Given the description of an element on the screen output the (x, y) to click on. 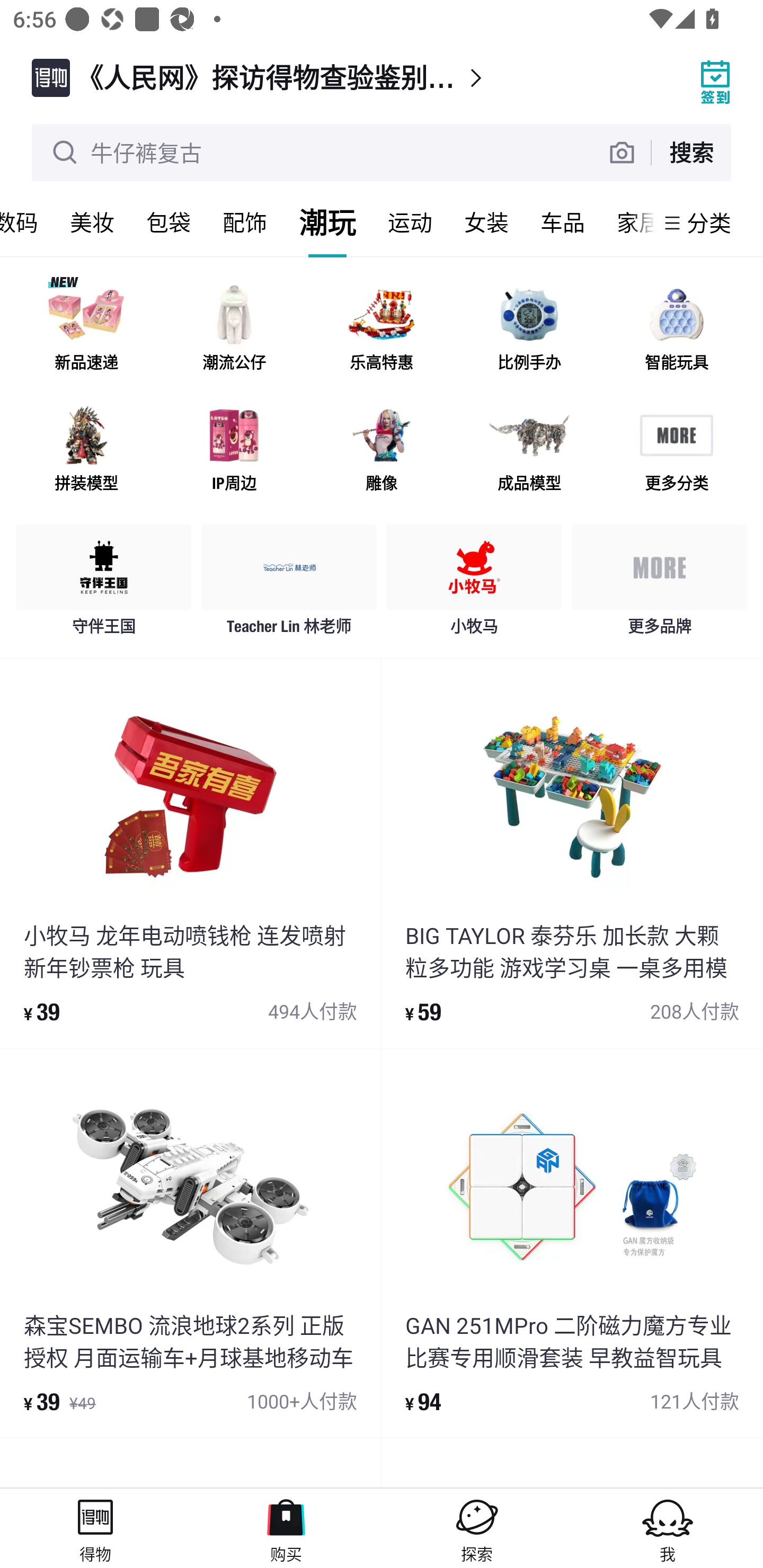
搜索 (690, 152)
数码 (27, 222)
美妆 (92, 222)
包袋 (168, 222)
配饰 (244, 222)
潮玩 (327, 222)
运动 (410, 222)
女装 (486, 222)
车品 (562, 222)
家居 (627, 222)
分类 (708, 222)
新品速递 (86, 329)
潮流公仔 (233, 329)
乐高特惠 (381, 329)
比例手办 (528, 329)
智能玩具 (676, 329)
拼装模型 (86, 450)
IP周边 (233, 450)
雕像 (381, 450)
成品模型 (528, 450)
更多分类 (676, 450)
守伴王国 (103, 583)
Teacher Lin 林老师 (288, 583)
小牧马 (473, 583)
更多品牌 (658, 583)
product_item 小牧马 龙年电动喷钱枪 连发喷射
新年钞票枪 玩具 ¥ 39 494人付款 (190, 852)
得物 (95, 1528)
购买 (285, 1528)
探索 (476, 1528)
我 (667, 1528)
